Given the description of an element on the screen output the (x, y) to click on. 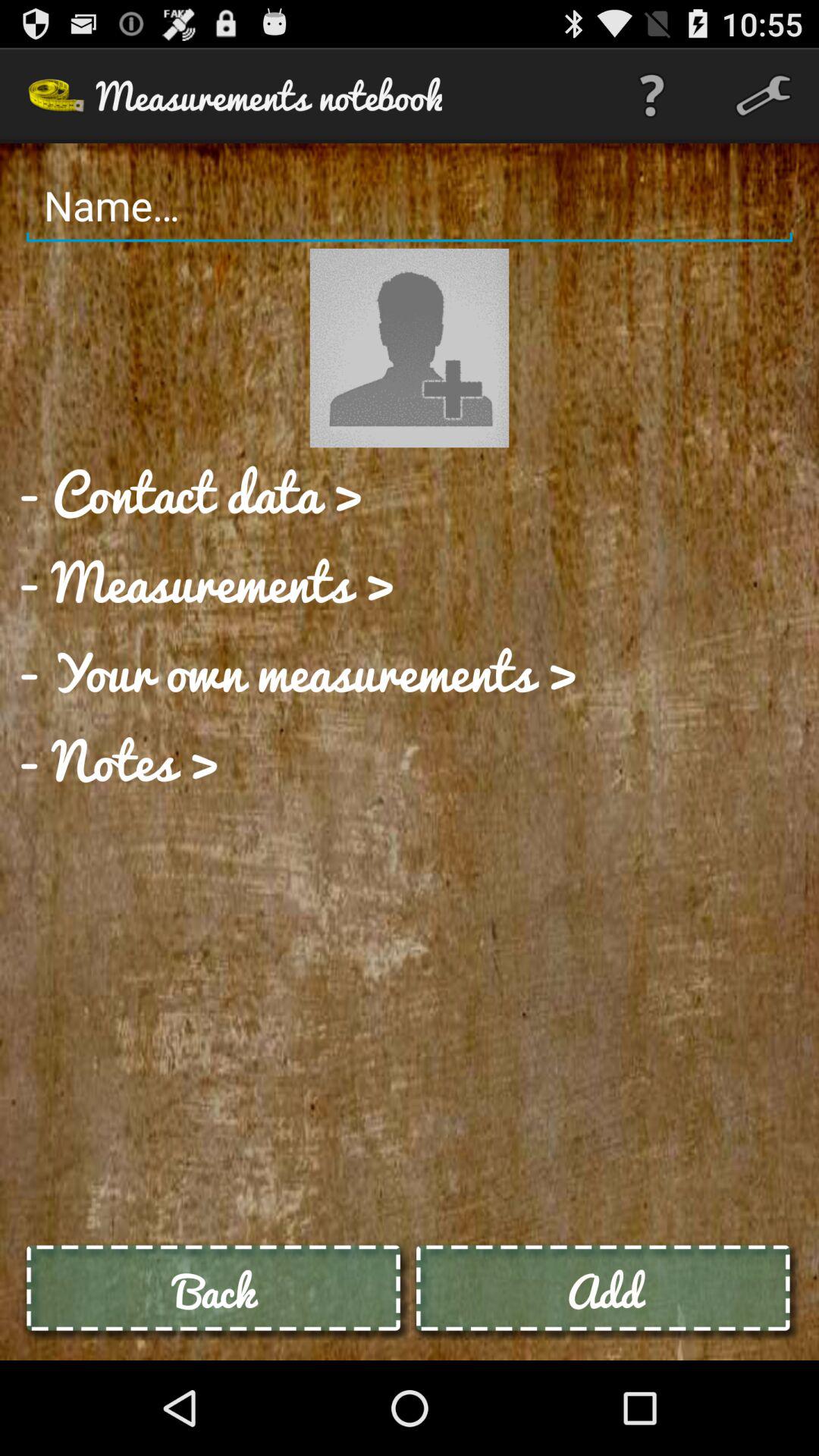
click the icon at the bottom left corner (214, 1290)
